Given the description of an element on the screen output the (x, y) to click on. 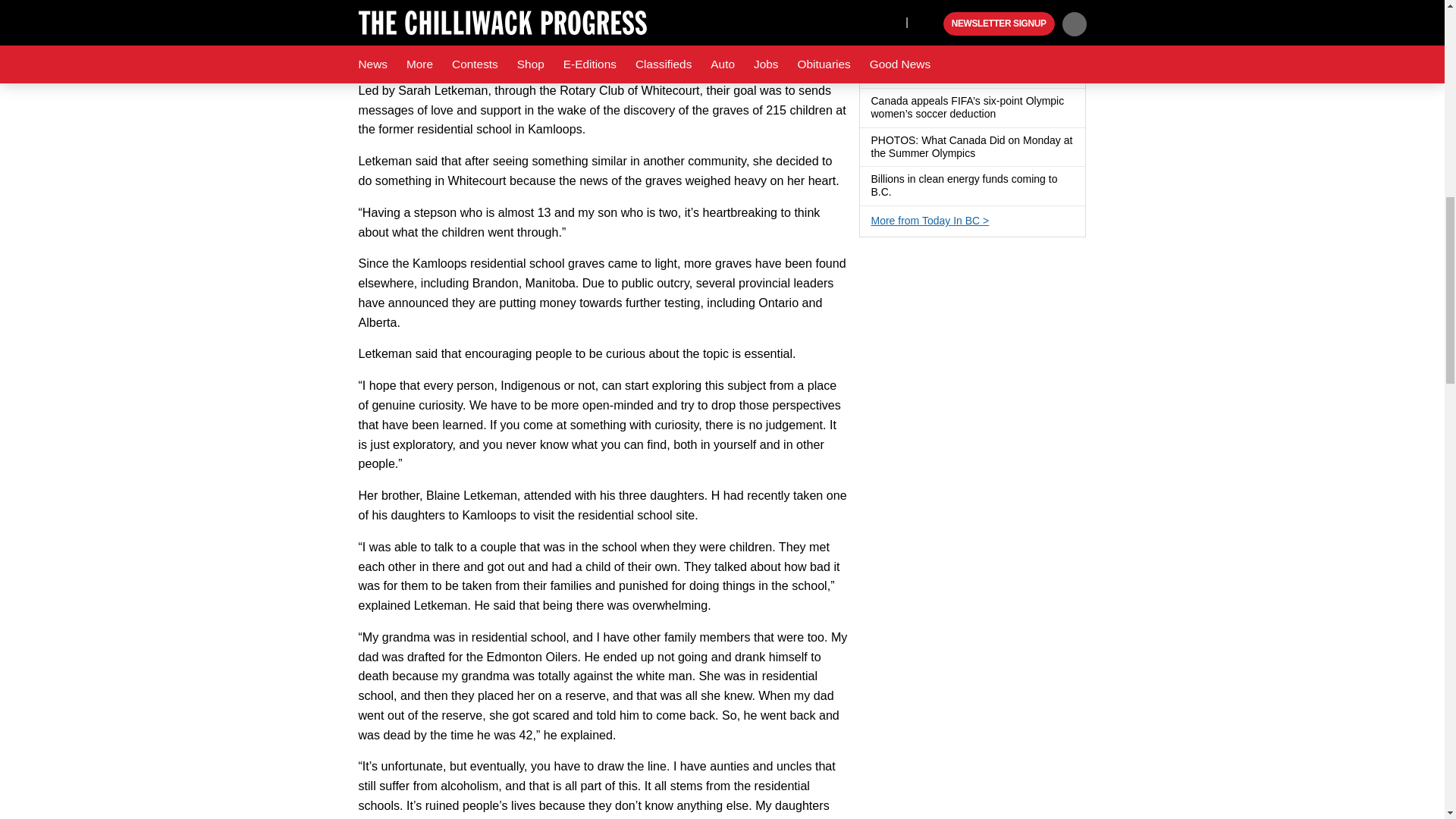
Has a gallery (901, 192)
